Given the description of an element on the screen output the (x, y) to click on. 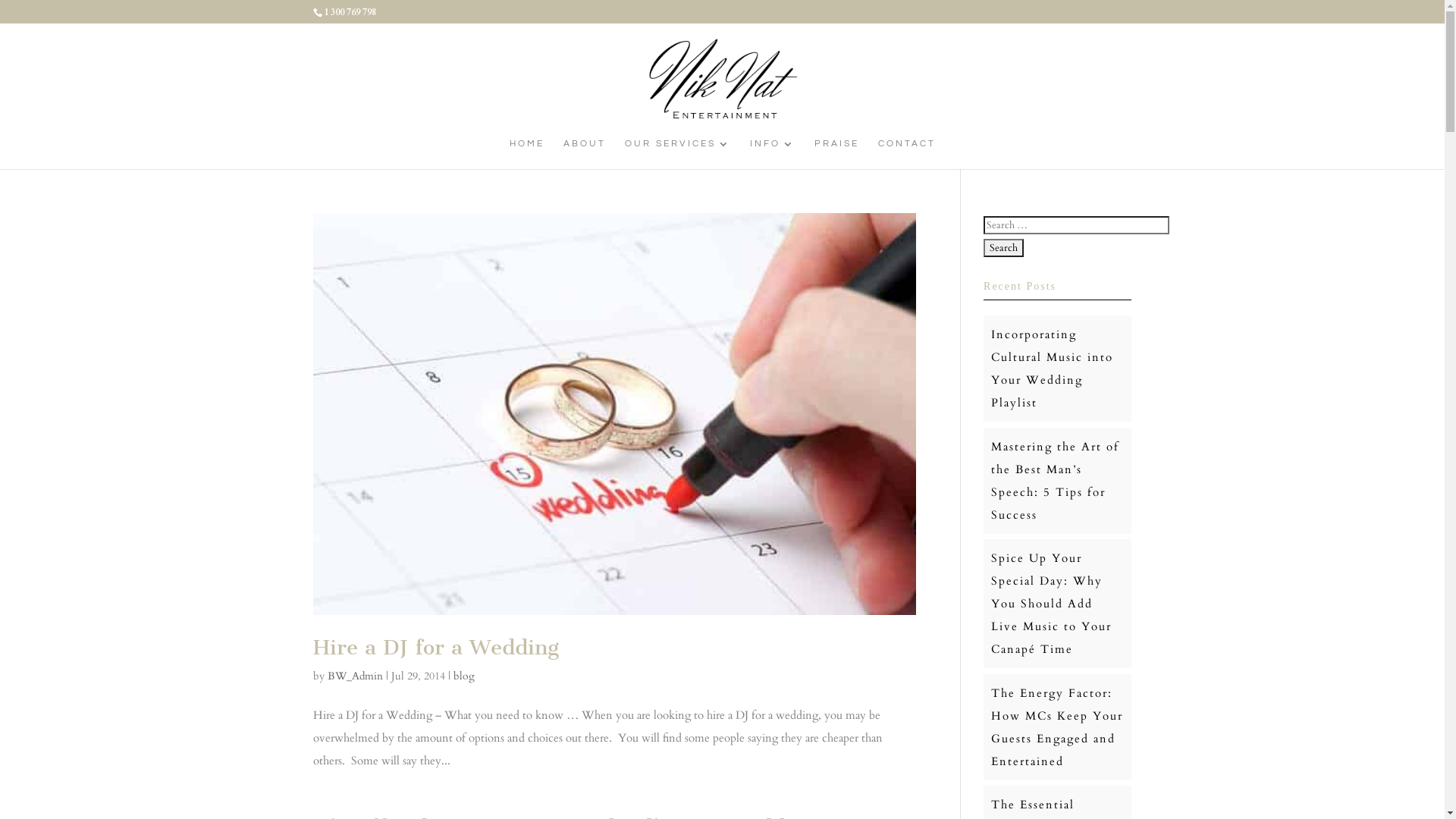
BW_Admin Element type: text (354, 675)
INFO Element type: text (771, 153)
Incorporating Cultural Music into Your Wedding Playlist Element type: text (1052, 368)
PRAISE Element type: text (836, 153)
Search Element type: text (1003, 247)
CONTACT Element type: text (906, 153)
OUR SERVICES Element type: text (677, 153)
blog Element type: text (463, 675)
HOME Element type: text (526, 153)
Hire a DJ for a Wedding Element type: text (435, 646)
ABOUT Element type: text (583, 153)
